Given the description of an element on the screen output the (x, y) to click on. 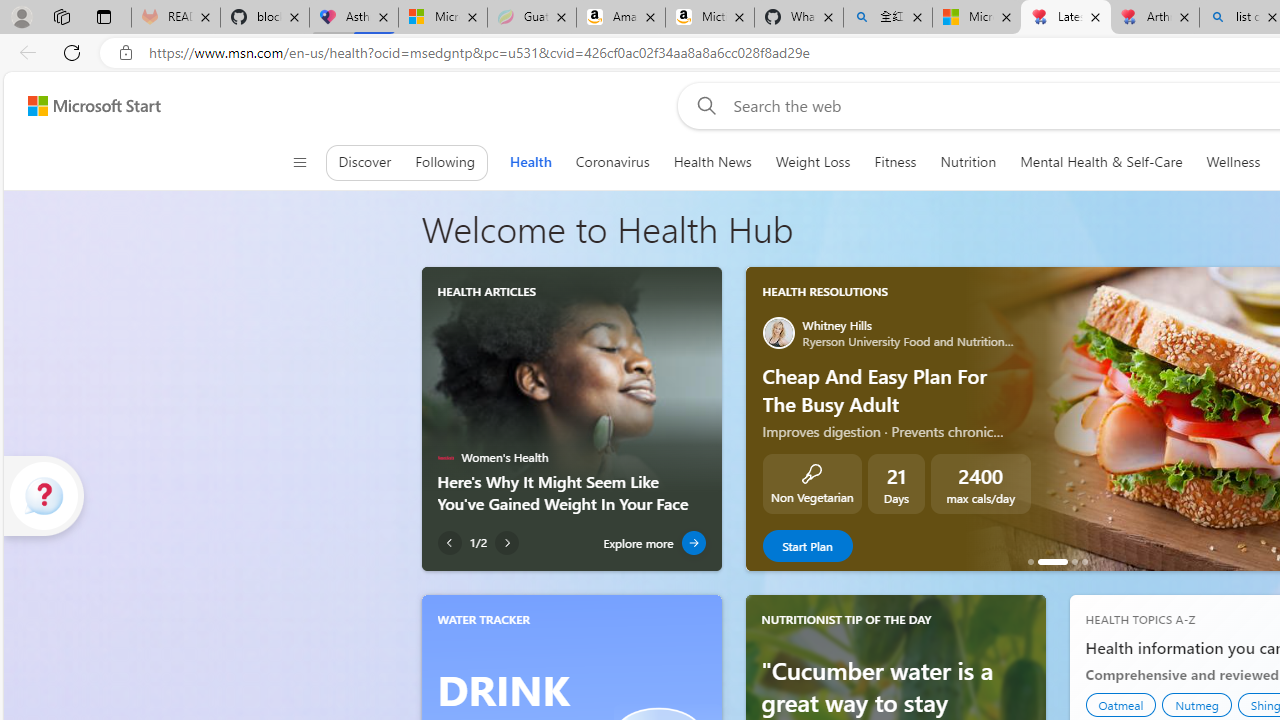
Cheap And Easy Plan For The Busy Adult (1051, 561)
Previous Article (449, 543)
Health News (711, 161)
Nutrition (968, 162)
7 Days Cardioprotective Vegan Diet Plan (1030, 561)
Web search (702, 105)
Asthma Inhalers: Names and Types (353, 17)
